Given the description of an element on the screen output the (x, y) to click on. 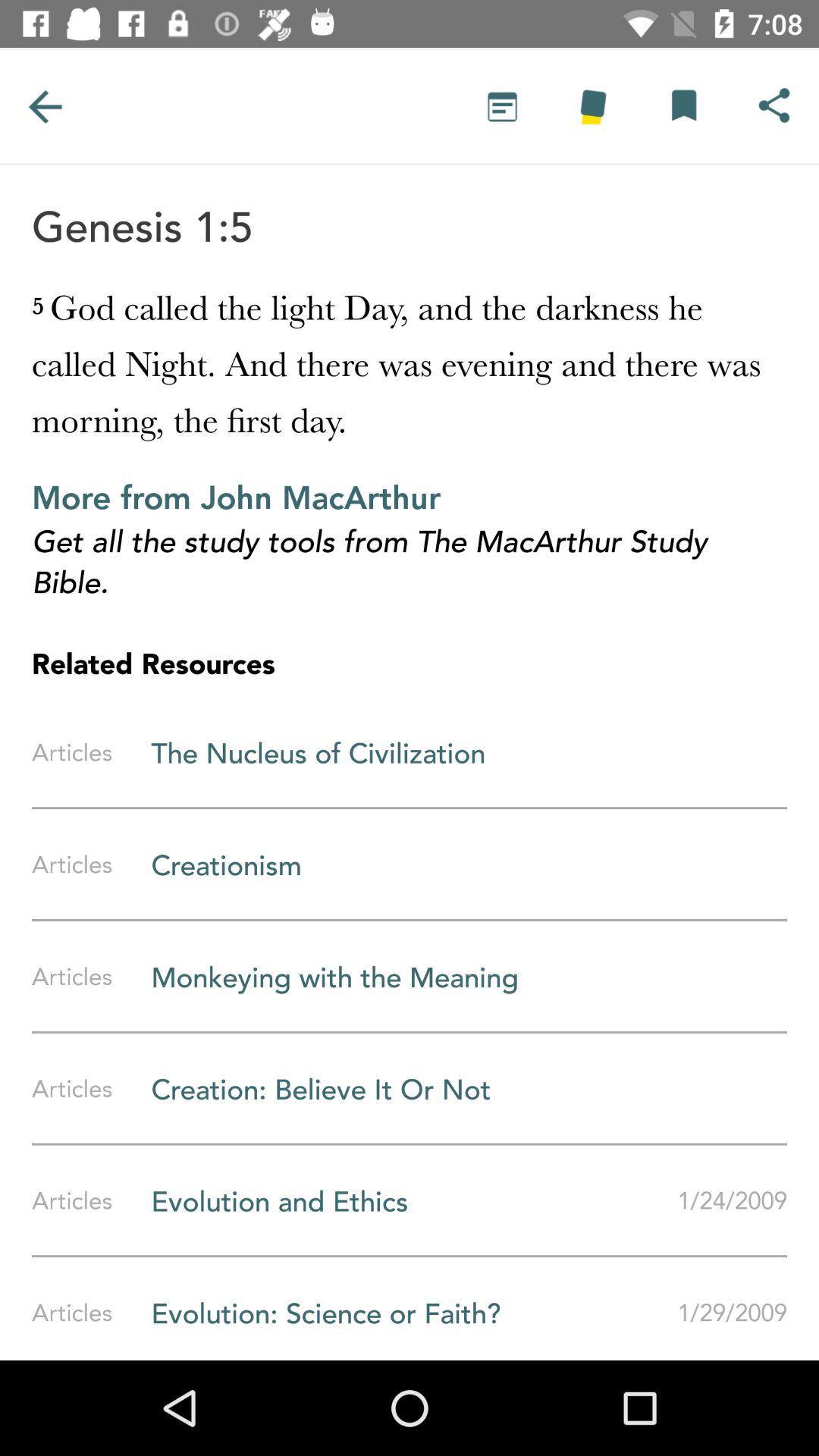
bookmark bible verse (683, 106)
